Given the description of an element on the screen output the (x, y) to click on. 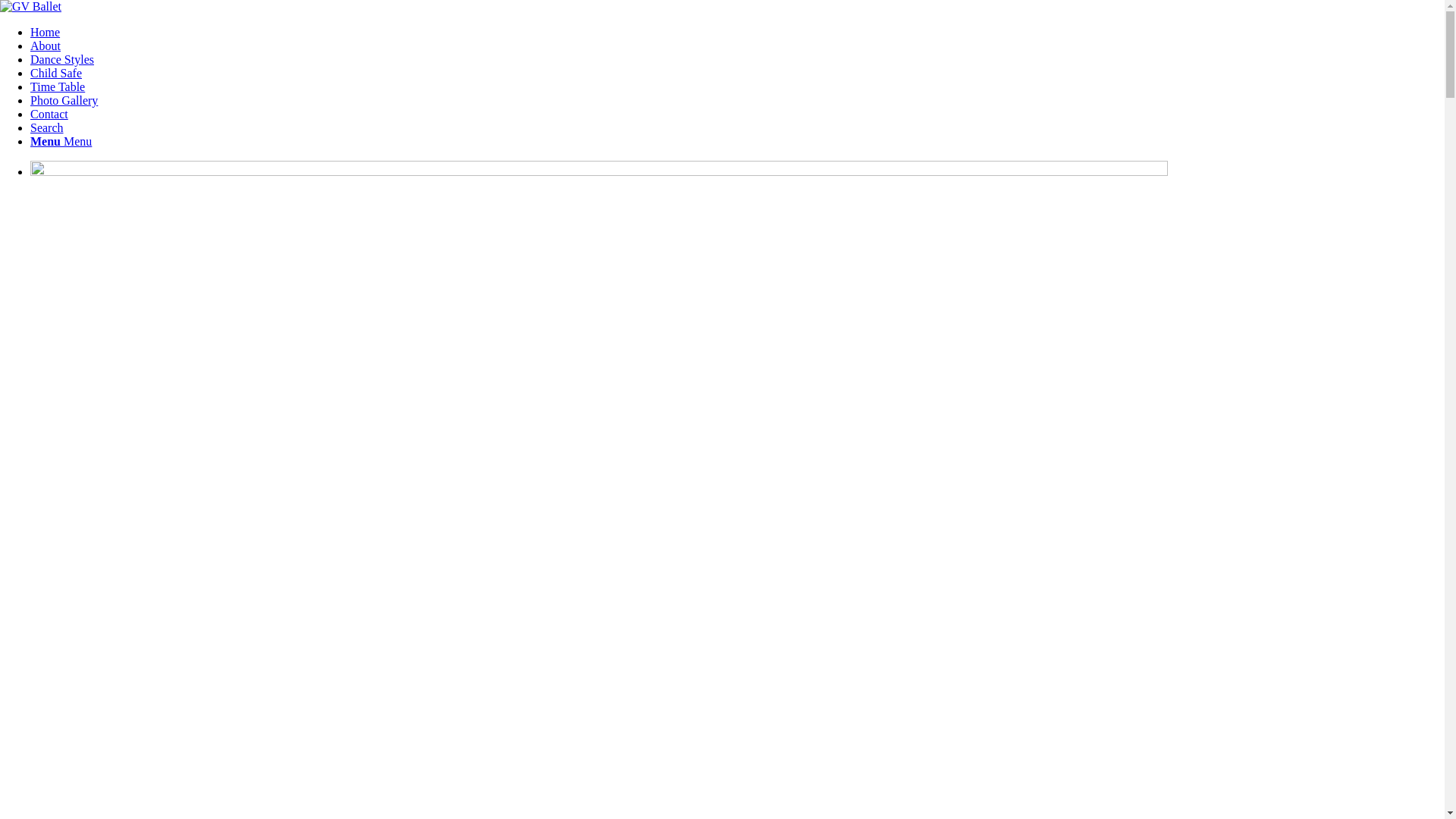
Dance Styles Element type: text (62, 59)
755 Element type: hover (598, 323)
About Element type: text (45, 45)
Child Safe Element type: text (55, 72)
Photo Gallery Element type: text (63, 100)
Menu Menu Element type: text (60, 140)
Time Table Element type: text (57, 86)
Home Element type: text (44, 31)
Search Element type: text (46, 127)
Contact Element type: text (49, 113)
